Given the description of an element on the screen output the (x, y) to click on. 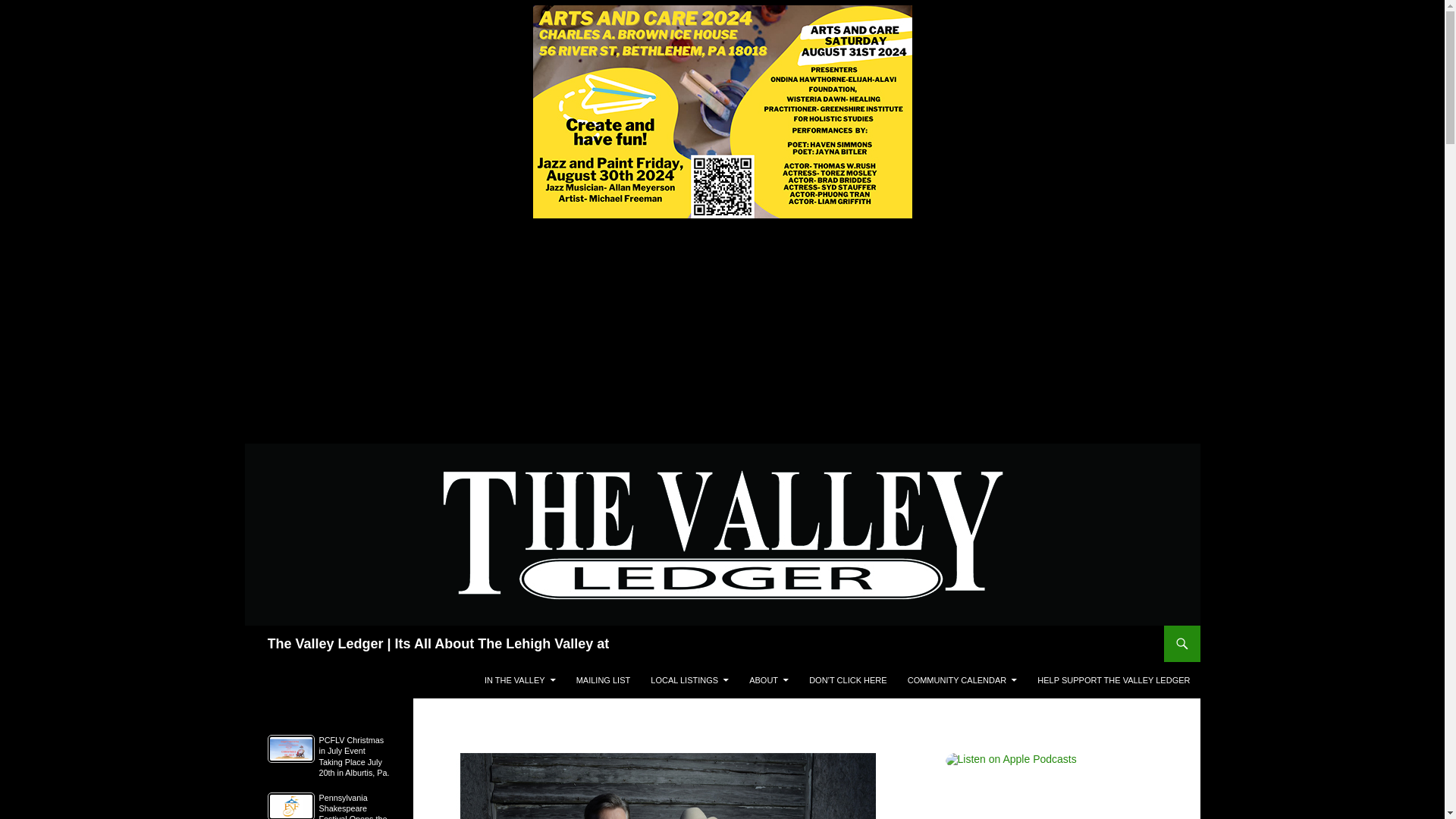
ABOUT (768, 679)
LOCAL LISTINGS (690, 679)
HELP SUPPORT THE VALLEY LEDGER (1112, 679)
IN THE VALLEY (520, 679)
COMMUNITY CALENDAR (962, 679)
MAILING LIST (603, 679)
